Given the description of an element on the screen output the (x, y) to click on. 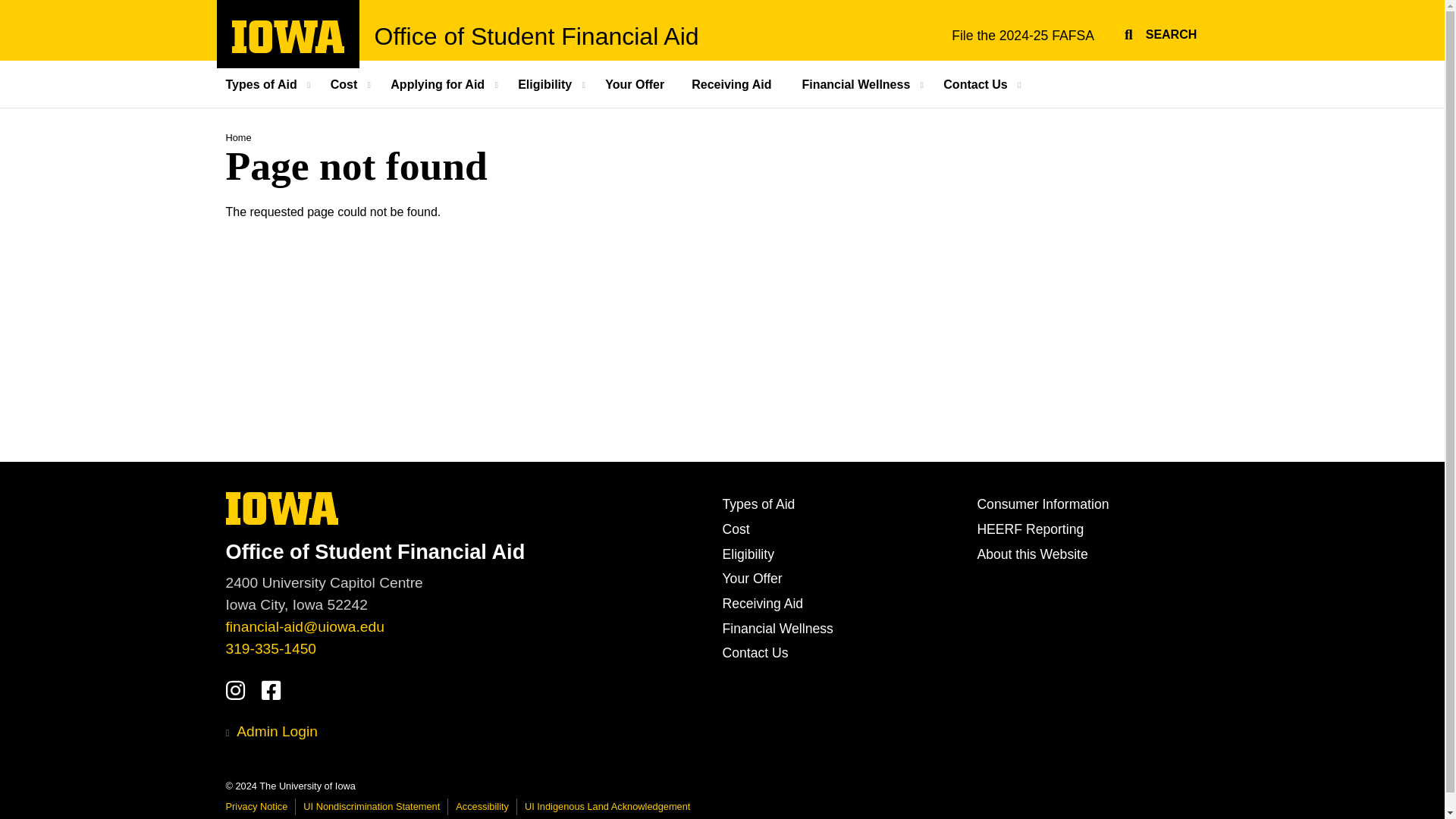
Applying for Aid (438, 83)
University of Iowa (282, 508)
Office of Student Financial Aid (536, 36)
Home (238, 137)
Eligibility (545, 83)
319-335-1450 (271, 648)
Your Offer (634, 83)
Receiving Aid (732, 83)
Types of Aid (270, 83)
File the 2024-25 FAFSA (1022, 34)
Financial Wellness (857, 83)
Contact Us (976, 83)
SEARCH (1157, 32)
Office of Student Financial Aid (467, 551)
Cost (345, 83)
